Given the description of an element on the screen output the (x, y) to click on. 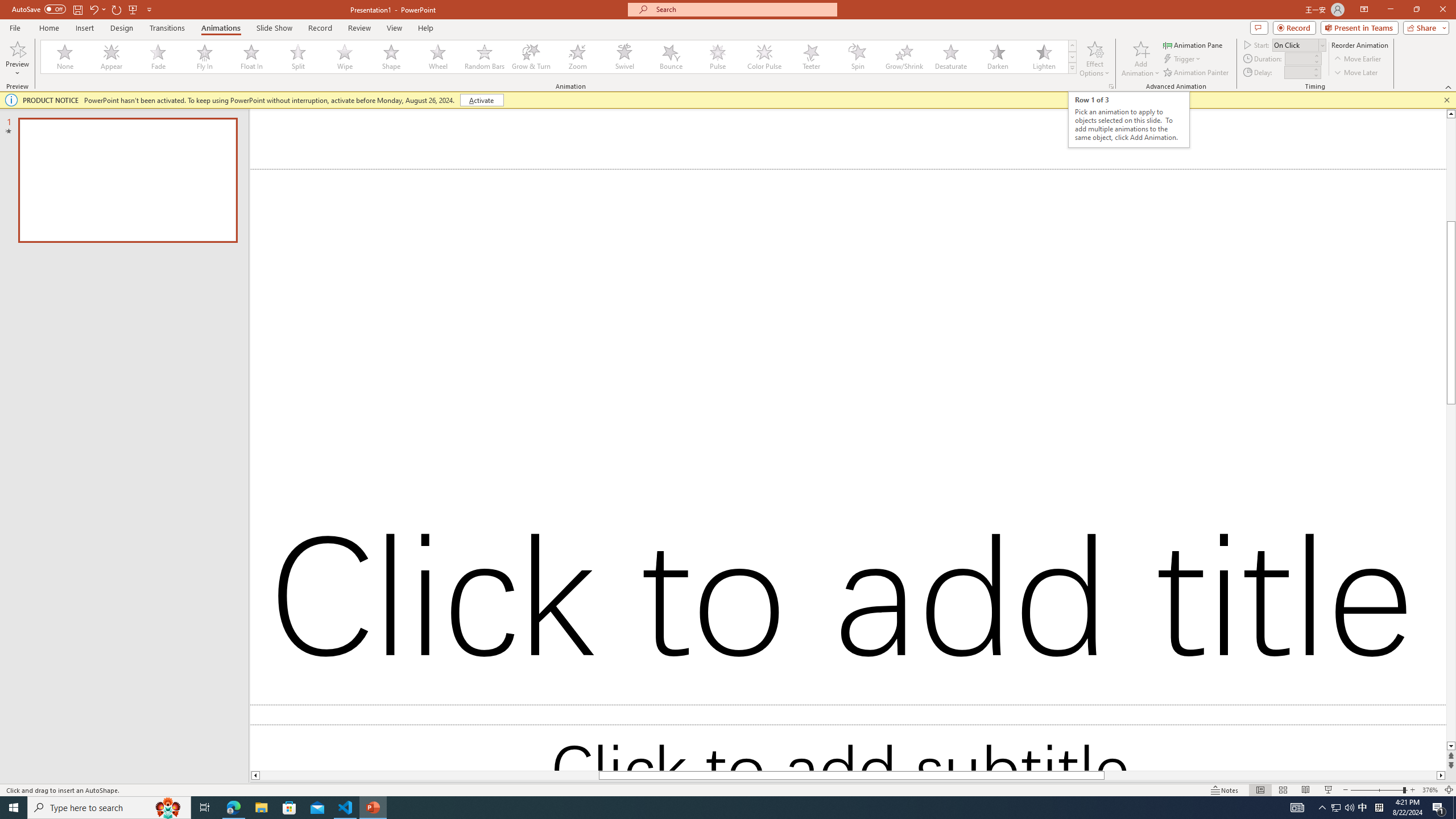
Open (1321, 44)
Start (1299, 44)
Row Down (1071, 56)
Appear (111, 56)
Random Bars (484, 56)
Preview (17, 48)
Microsoft search (742, 9)
Class: MsoCommandBar (728, 789)
